Given the description of an element on the screen output the (x, y) to click on. 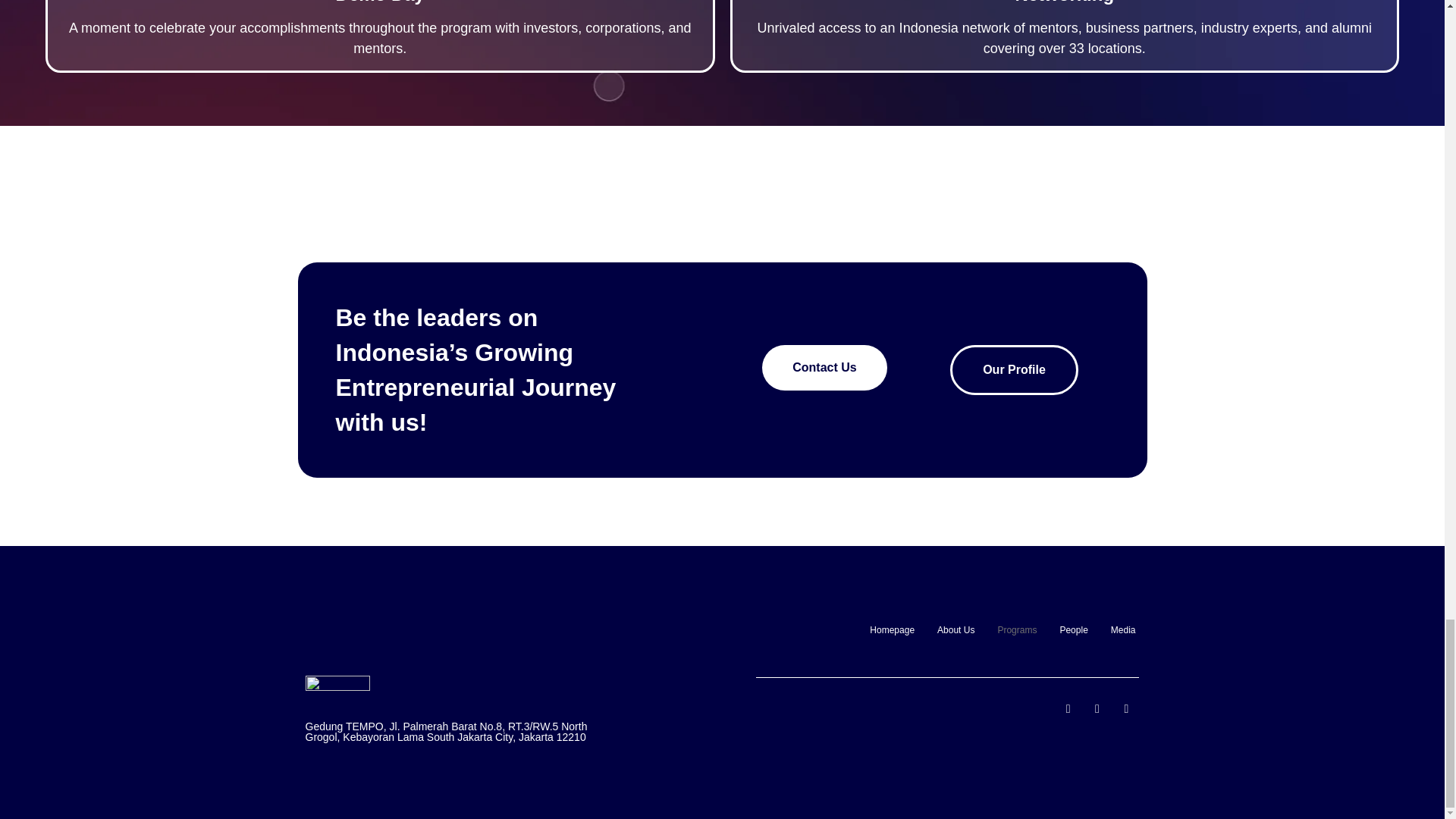
Contact Us (823, 367)
Our Profile (1014, 369)
